Given the description of an element on the screen output the (x, y) to click on. 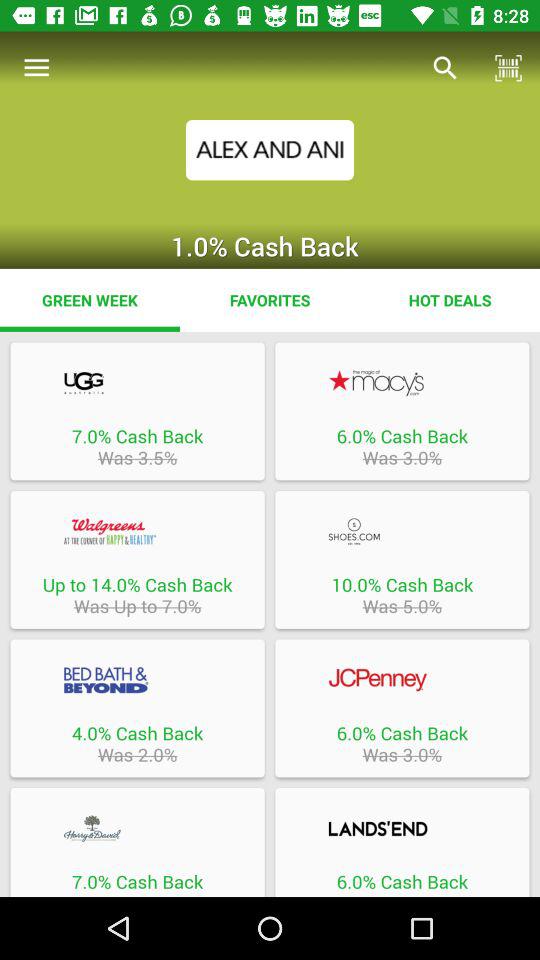
open store (137, 679)
